Given the description of an element on the screen output the (x, y) to click on. 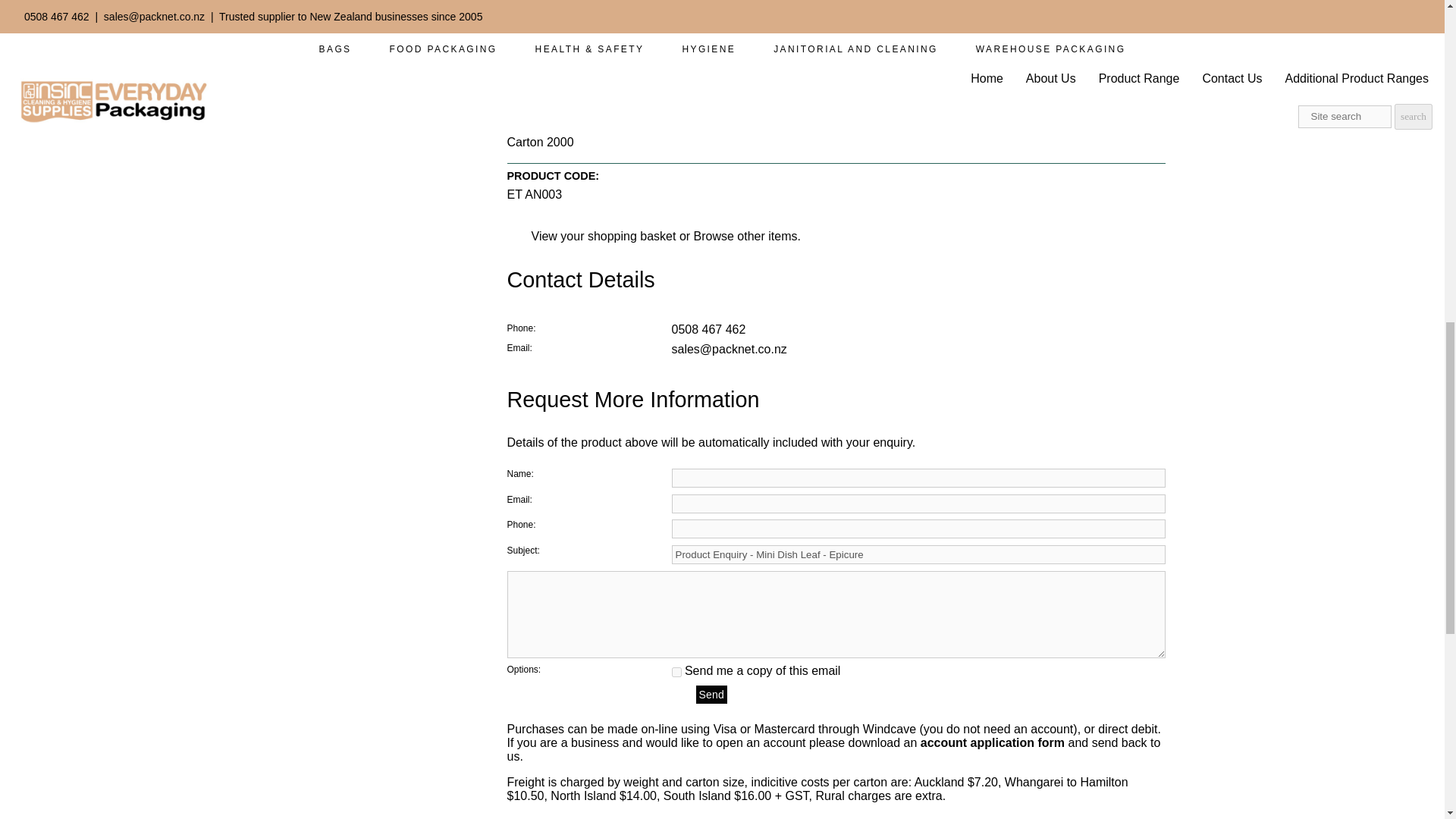
Send (711, 694)
Product Enquiry - Mini Dish Leaf - Epicure (918, 554)
1 (676, 672)
BUY (691, 11)
